Given the description of an element on the screen output the (x, y) to click on. 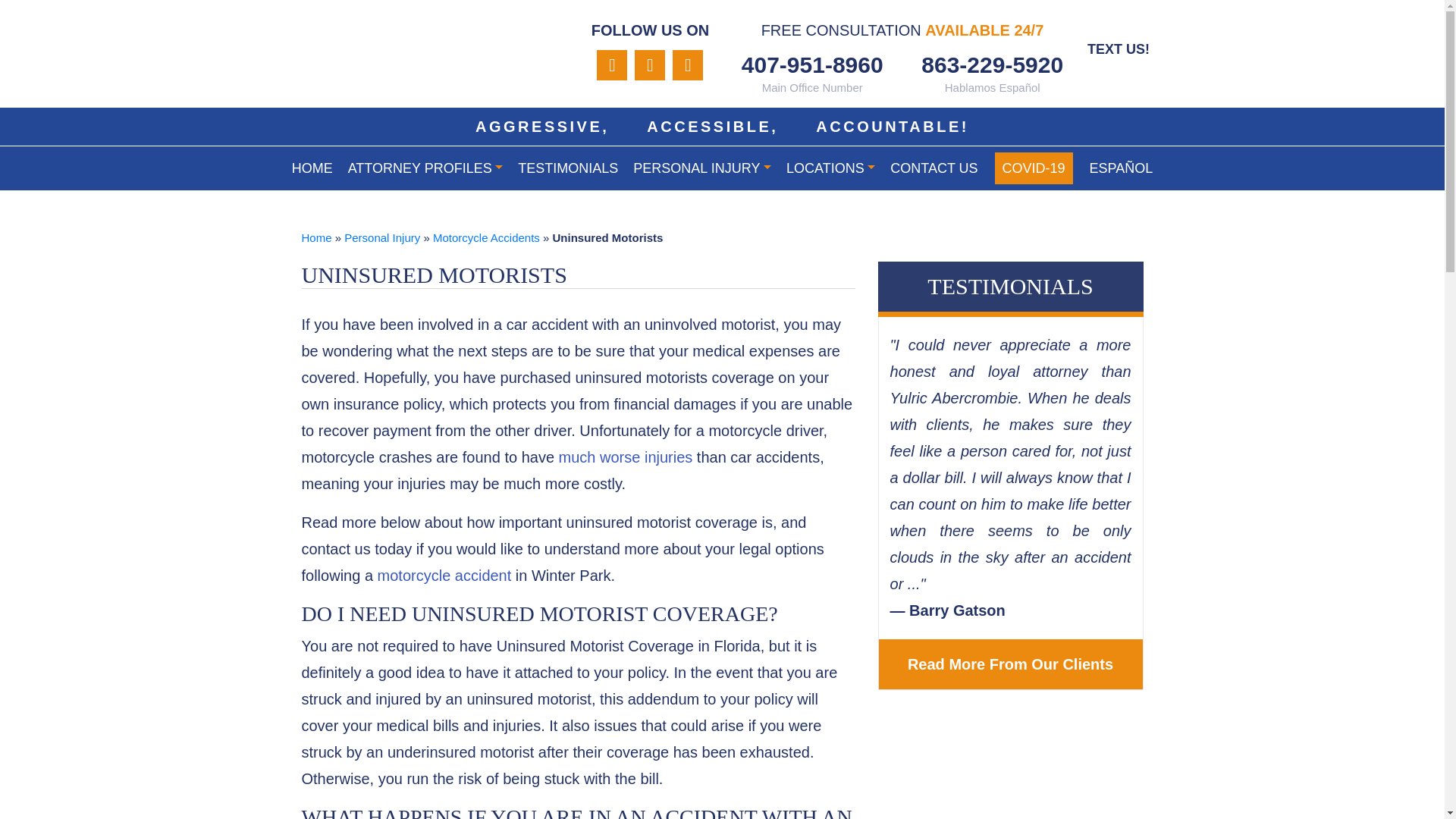
863-229-5920 (992, 64)
COVID-19 (1033, 168)
Text Us! (1118, 47)
407-951-8960 (812, 64)
HOME (311, 168)
Read More (1010, 664)
Our Facebook Page (687, 64)
Our Instagram Page (611, 64)
ATTORNEY PROFILES (425, 168)
Abercrombie, P.A. (434, 55)
Main Office Number (812, 64)
Our Google My Business Page (649, 64)
PERSONAL INJURY (702, 168)
LOCATIONS (830, 168)
TESTIMONIALS (568, 168)
